Given the description of an element on the screen output the (x, y) to click on. 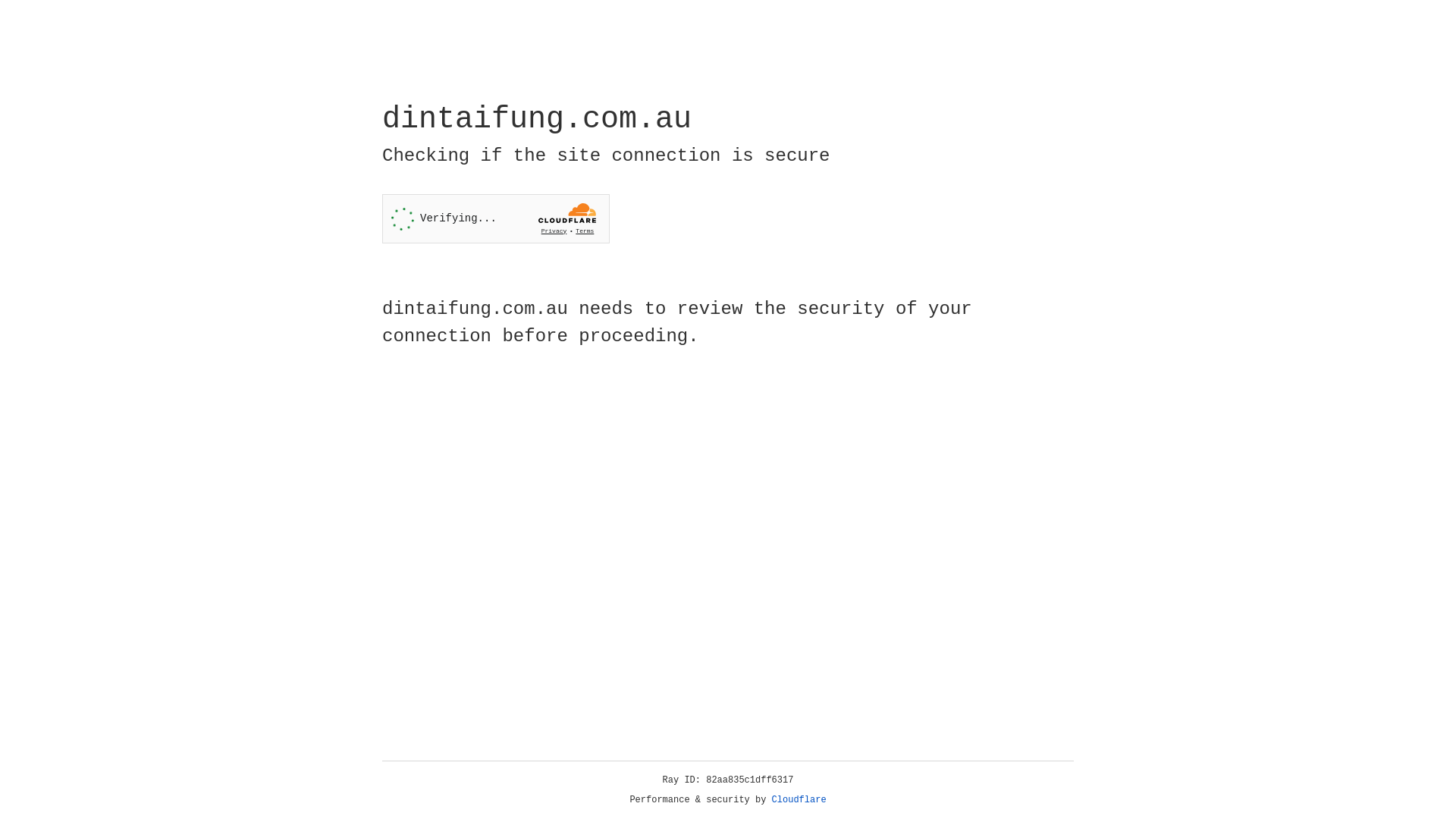
Cloudflare Element type: text (798, 799)
Widget containing a Cloudflare security challenge Element type: hover (495, 218)
